Given the description of an element on the screen output the (x, y) to click on. 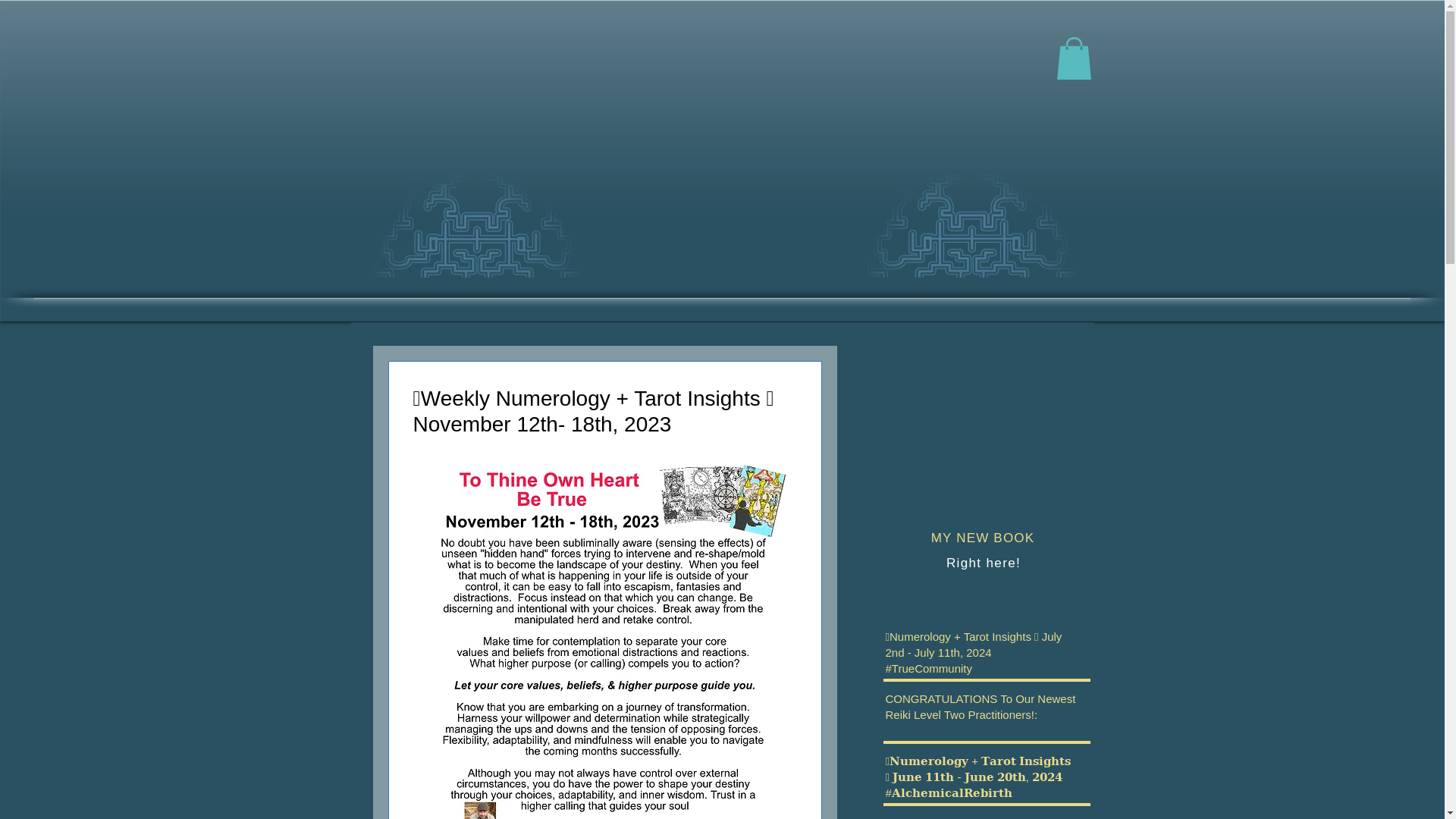
MY NEW BOOK (983, 537)
Right here! (983, 563)
